Given the description of an element on the screen output the (x, y) to click on. 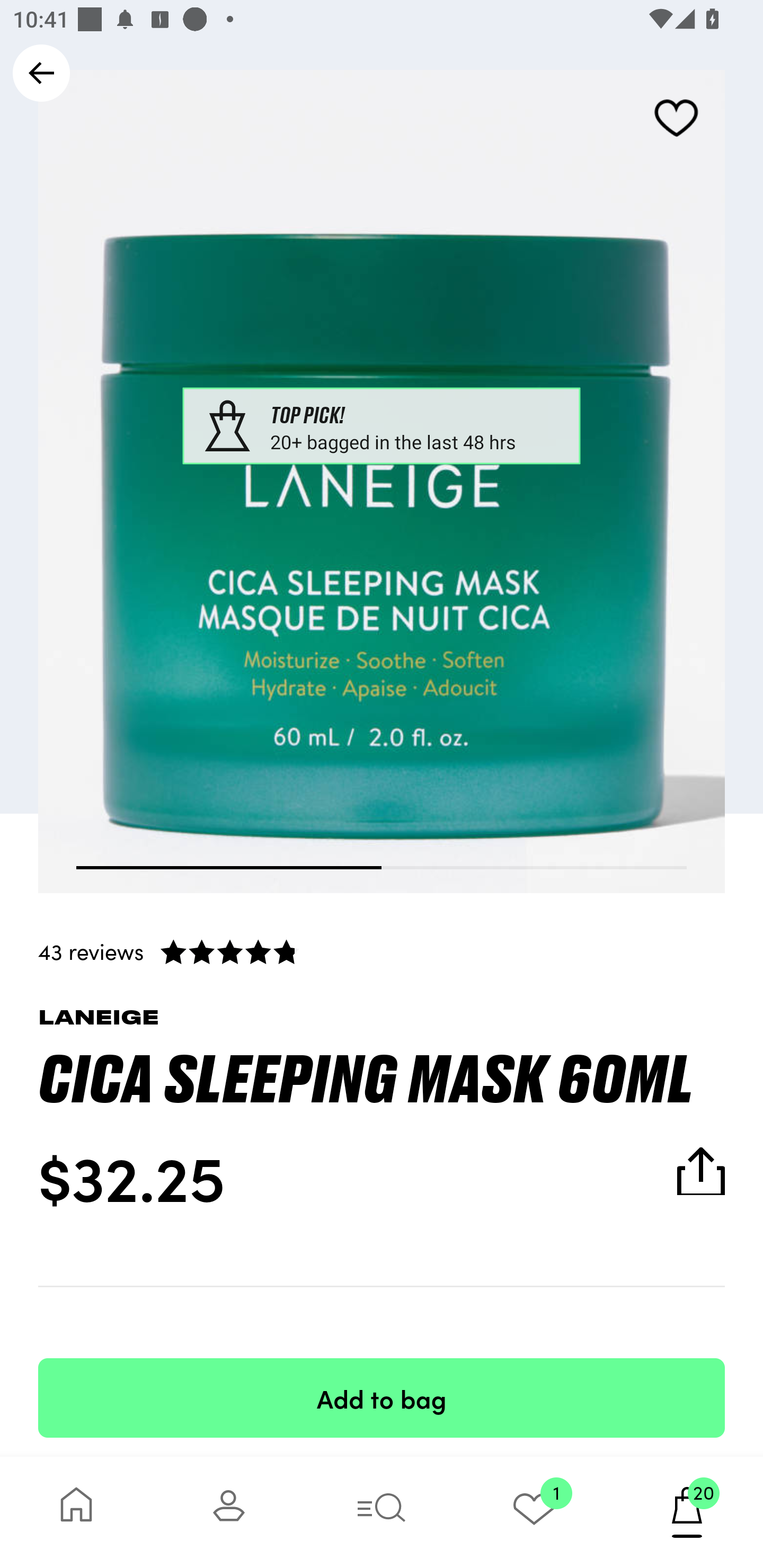
43 reviews (381, 950)
Add to bag (381, 1397)
1 (533, 1512)
20 (686, 1512)
